Given the description of an element on the screen output the (x, y) to click on. 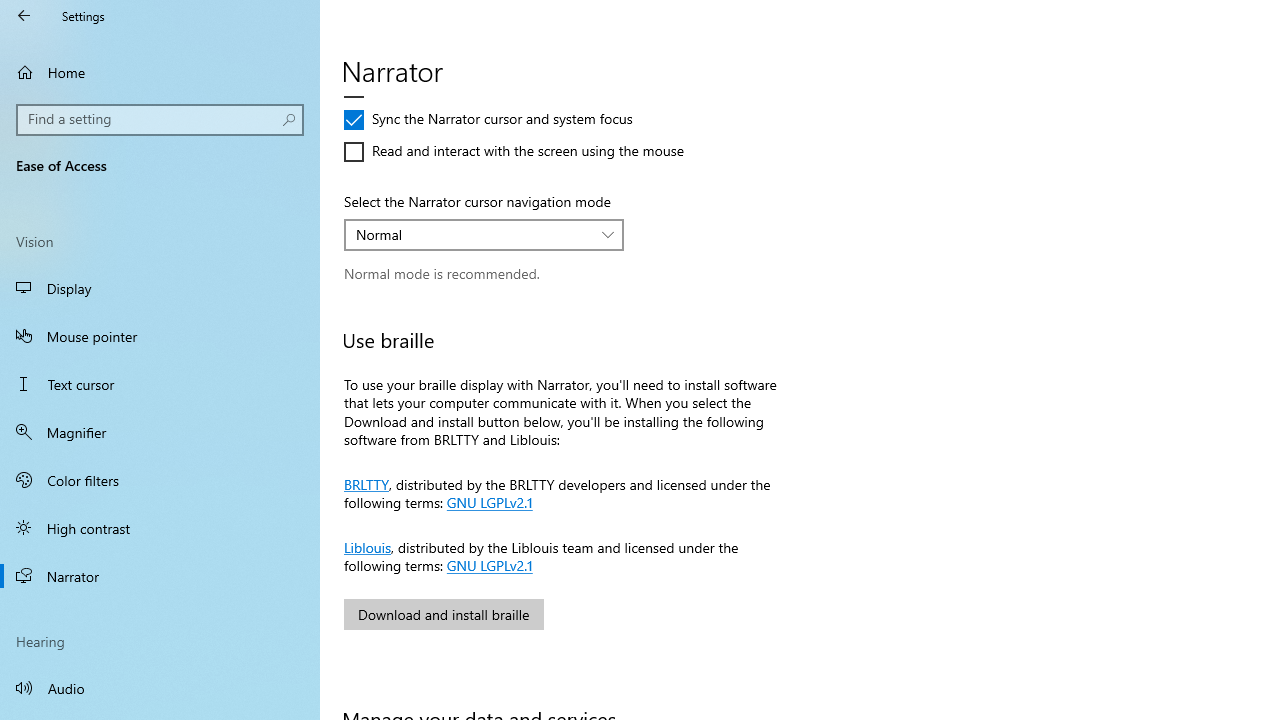
BRLTTY (365, 482)
Audio (160, 687)
Narrator (160, 575)
Search box, Find a setting (160, 119)
Normal (473, 234)
